Given the description of an element on the screen output the (x, y) to click on. 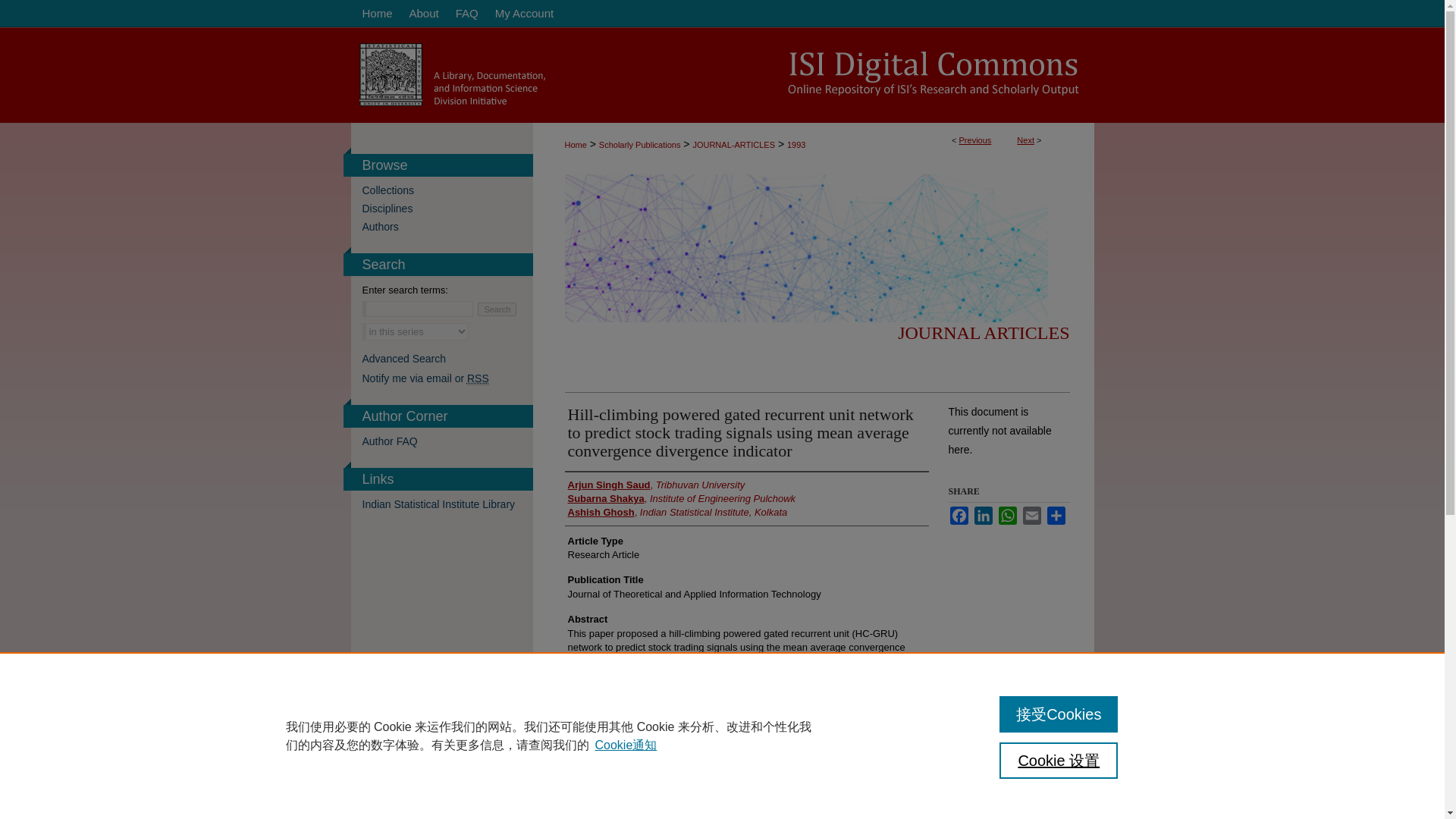
Notify me via email or RSS (447, 378)
Home (375, 13)
FAQ (466, 13)
JOURNAL-ARTICLES (733, 144)
ISI Digital Commons (721, 74)
Advanced Search (404, 358)
Scholarly Publications (639, 144)
Author FAQ (447, 440)
Indian Statistical Institute Library (447, 503)
JOURNAL ARTICLES (983, 332)
Search (496, 309)
About (423, 13)
My Account (524, 13)
Ashish Ghosh, Indian Statistical Institute, Kolkata (677, 512)
Subarna Shakya, Institute of Engineering Pulchowk (680, 499)
